Given the description of an element on the screen output the (x, y) to click on. 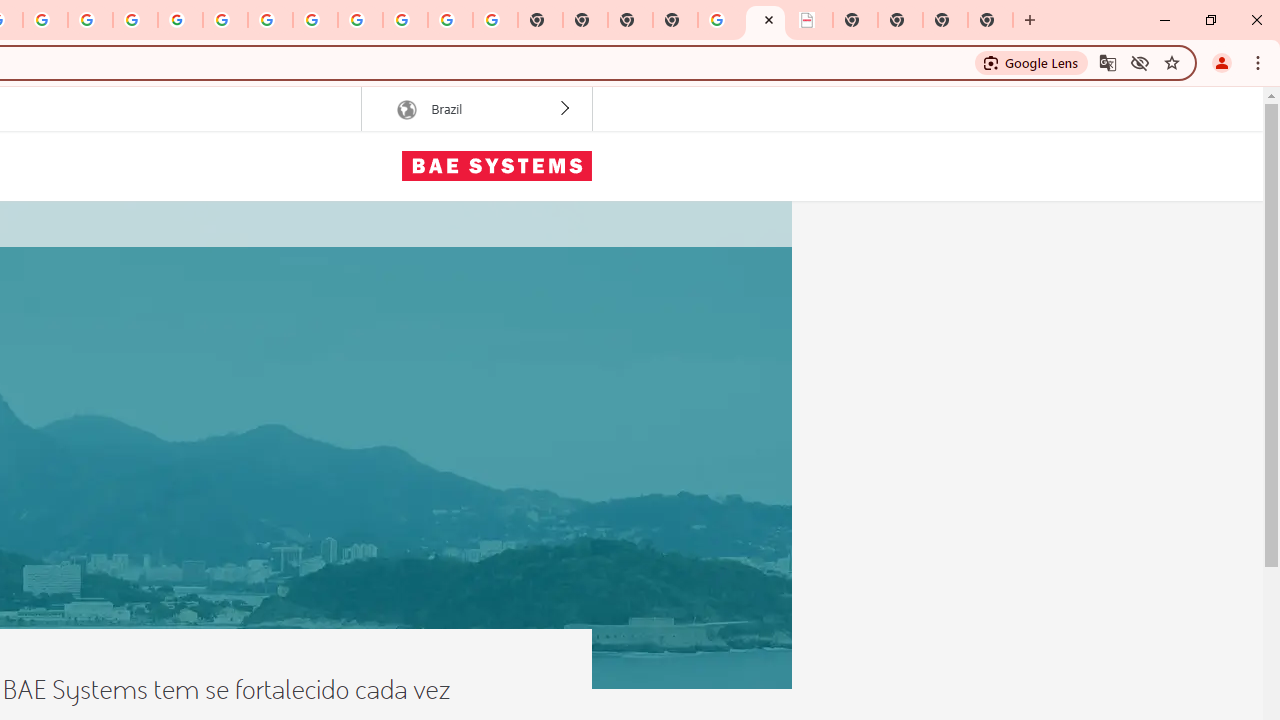
Google Images (495, 20)
Privacy Help Center - Policies Help (89, 20)
AutomationID: region-selector-top (475, 109)
Translate this page (1107, 62)
BAE Systems Brasil | BAE Systems (765, 20)
New Tab (674, 20)
